Given the description of an element on the screen output the (x, y) to click on. 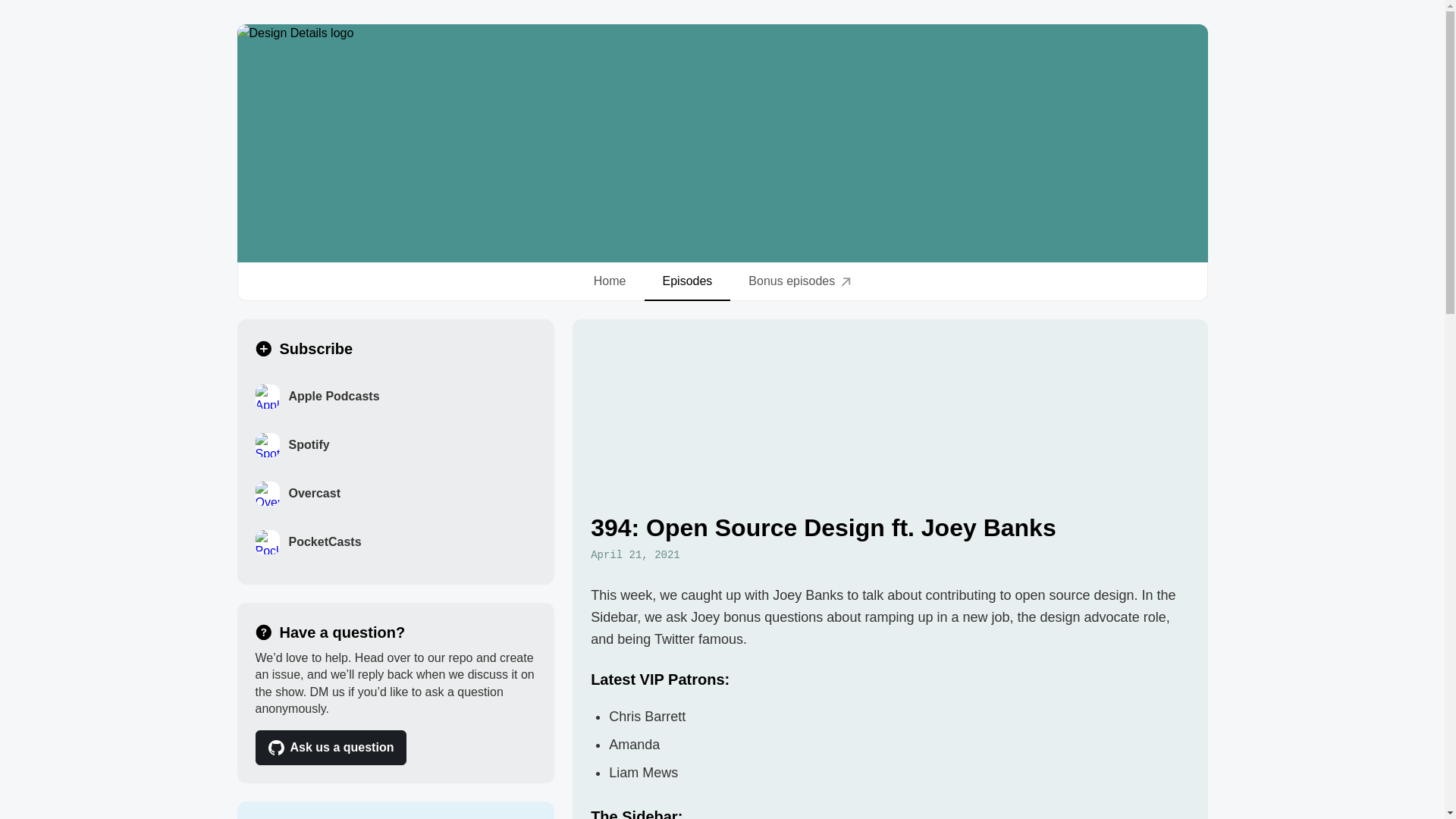
Ask us a question (394, 747)
Ask us a question (330, 747)
Bonus episodes (799, 281)
Episodes (687, 281)
Overcast (394, 493)
Spotify (394, 444)
Home (610, 281)
Apple Podcasts (394, 396)
PocketCasts (394, 541)
